Given the description of an element on the screen output the (x, y) to click on. 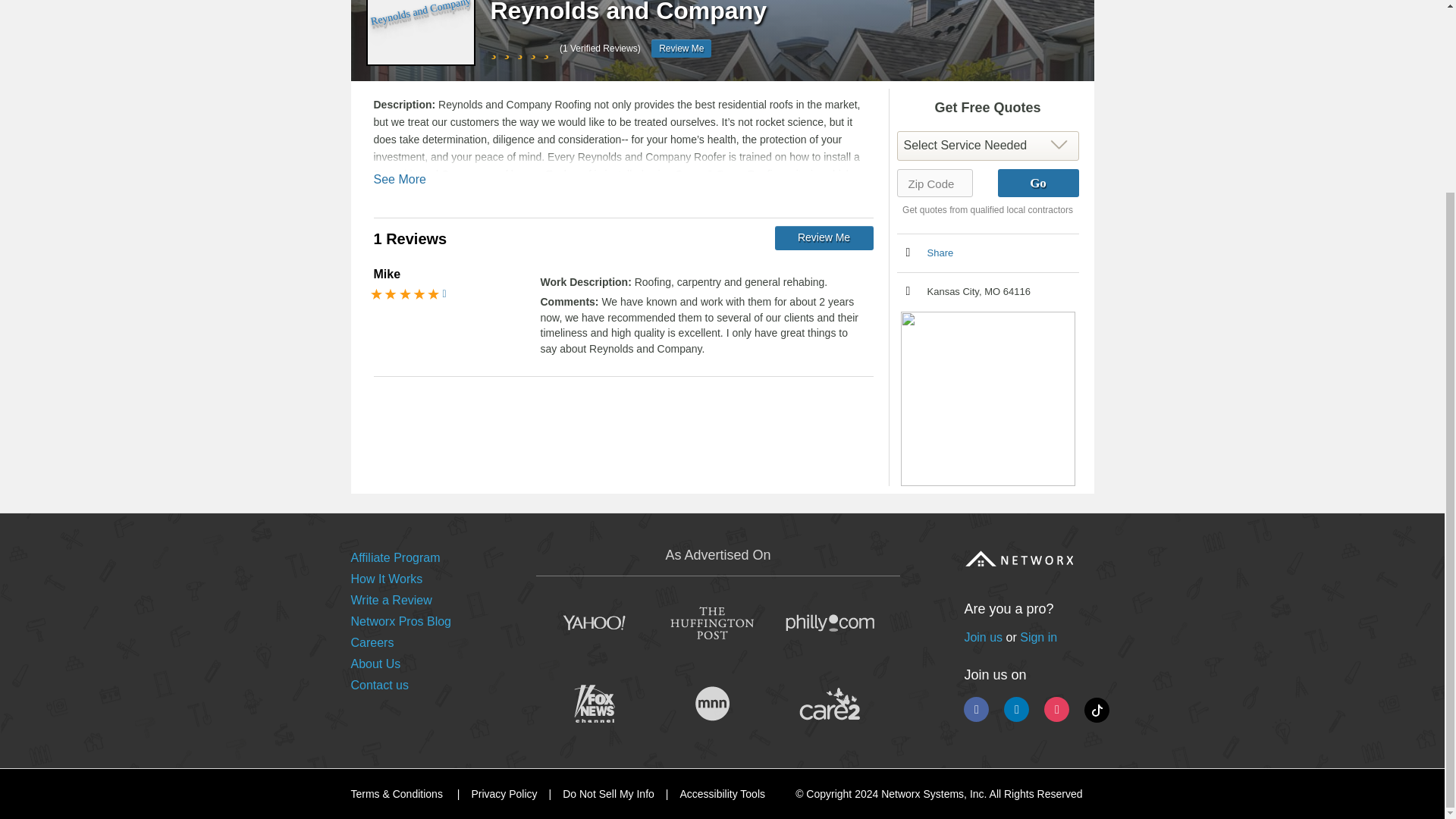
Affiliate Program (394, 557)
Write a Review (390, 599)
Go (1037, 182)
Review Me (680, 48)
How It Works (386, 578)
Go (1037, 182)
Review Me (823, 238)
